Given the description of an element on the screen output the (x, y) to click on. 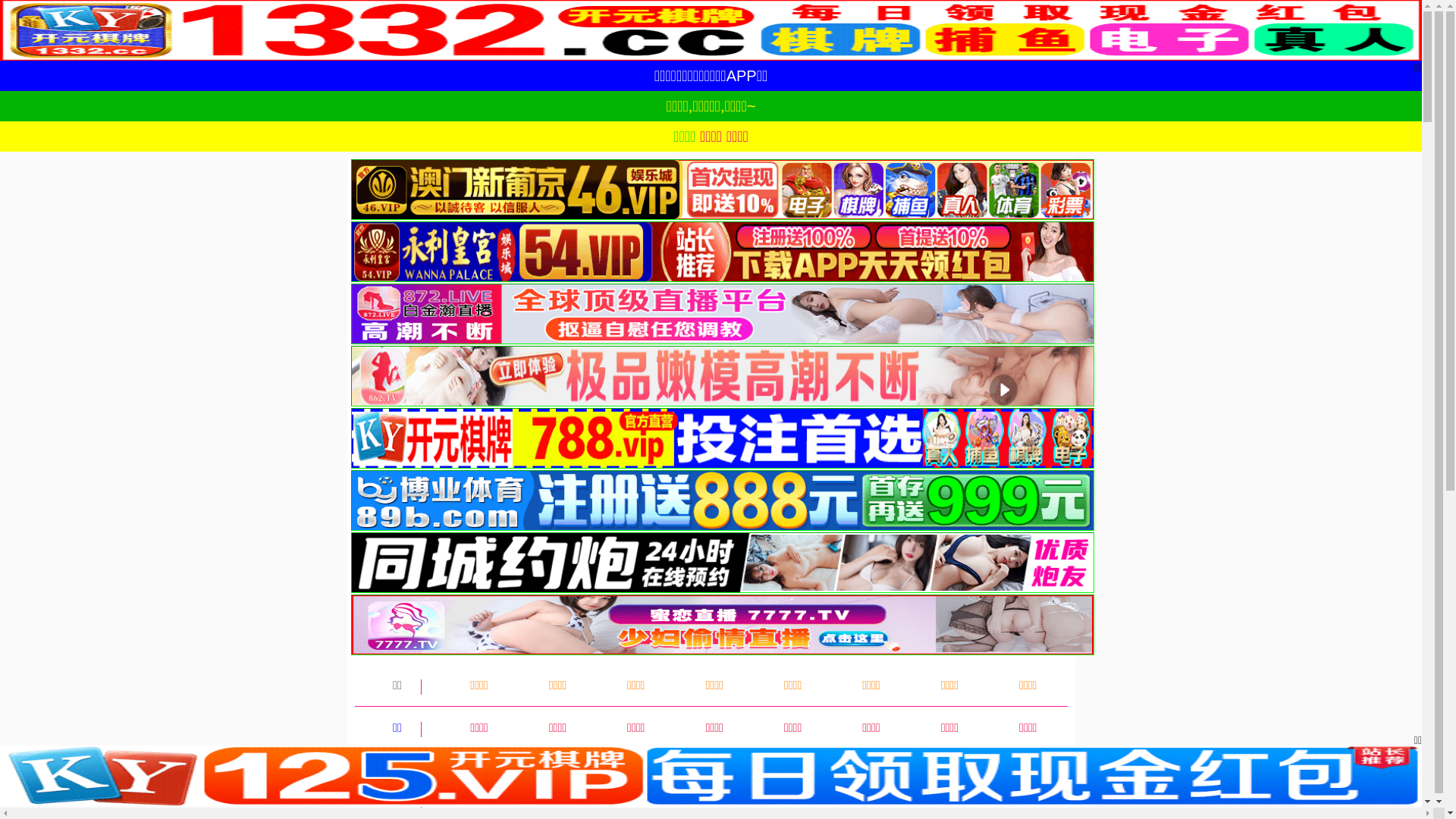
3 Element type: text (410, 732)
2 Element type: text (379, 732)
